Given the description of an element on the screen output the (x, y) to click on. 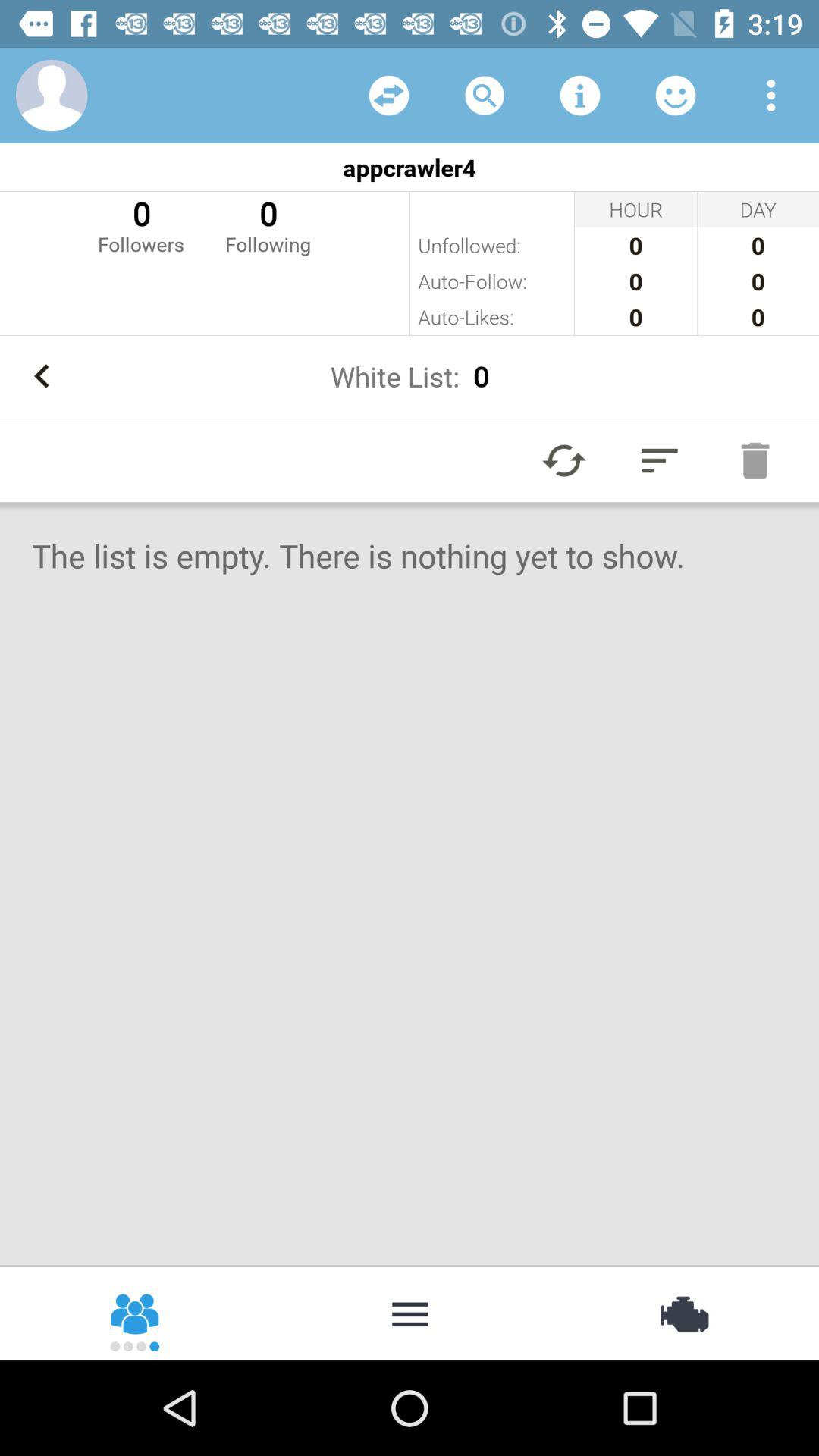
search (484, 95)
